Given the description of an element on the screen output the (x, y) to click on. 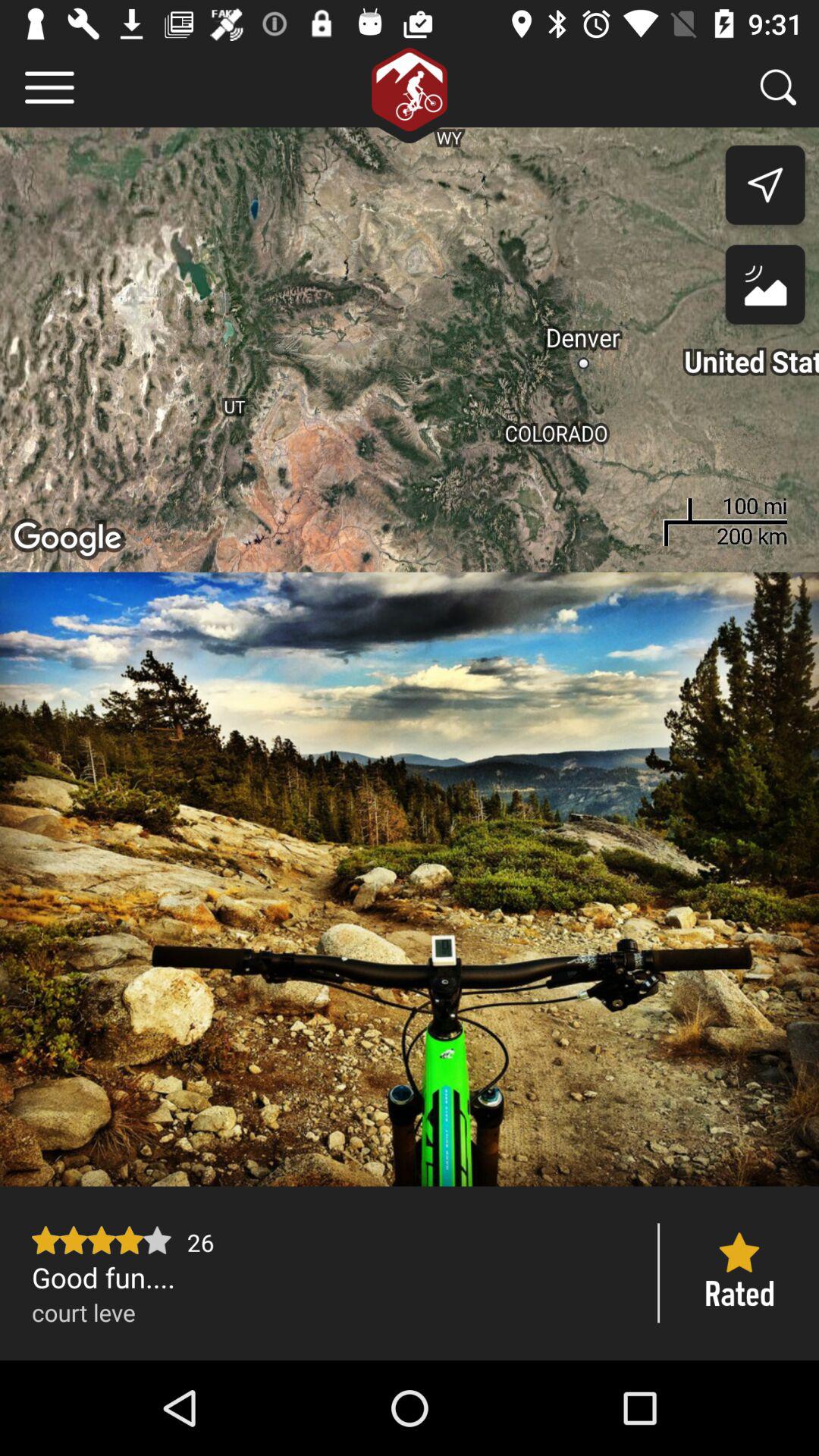
settings (49, 87)
